Given the description of an element on the screen output the (x, y) to click on. 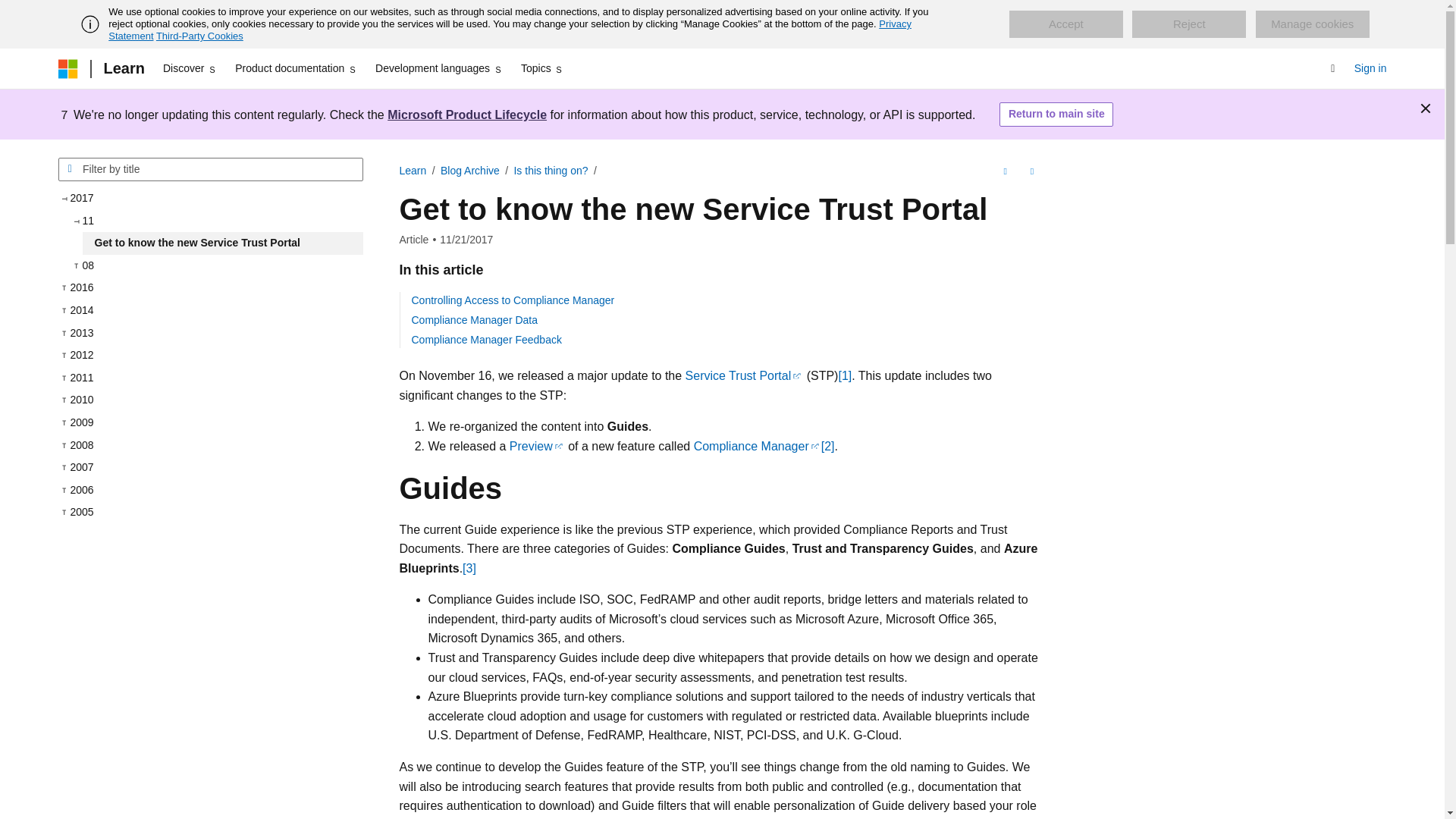
Third-Party Cookies (199, 35)
Reject (1189, 23)
Privacy Statement (509, 29)
Learn (412, 170)
Blog Archive (470, 170)
Topics (542, 68)
More actions (1031, 170)
Is this thing on? (550, 170)
Manage cookies (1312, 23)
Development languages (438, 68)
Dismiss alert (1425, 108)
Return to main site (1055, 114)
Discover (189, 68)
Accept (1065, 23)
Product documentation (295, 68)
